Given the description of an element on the screen output the (x, y) to click on. 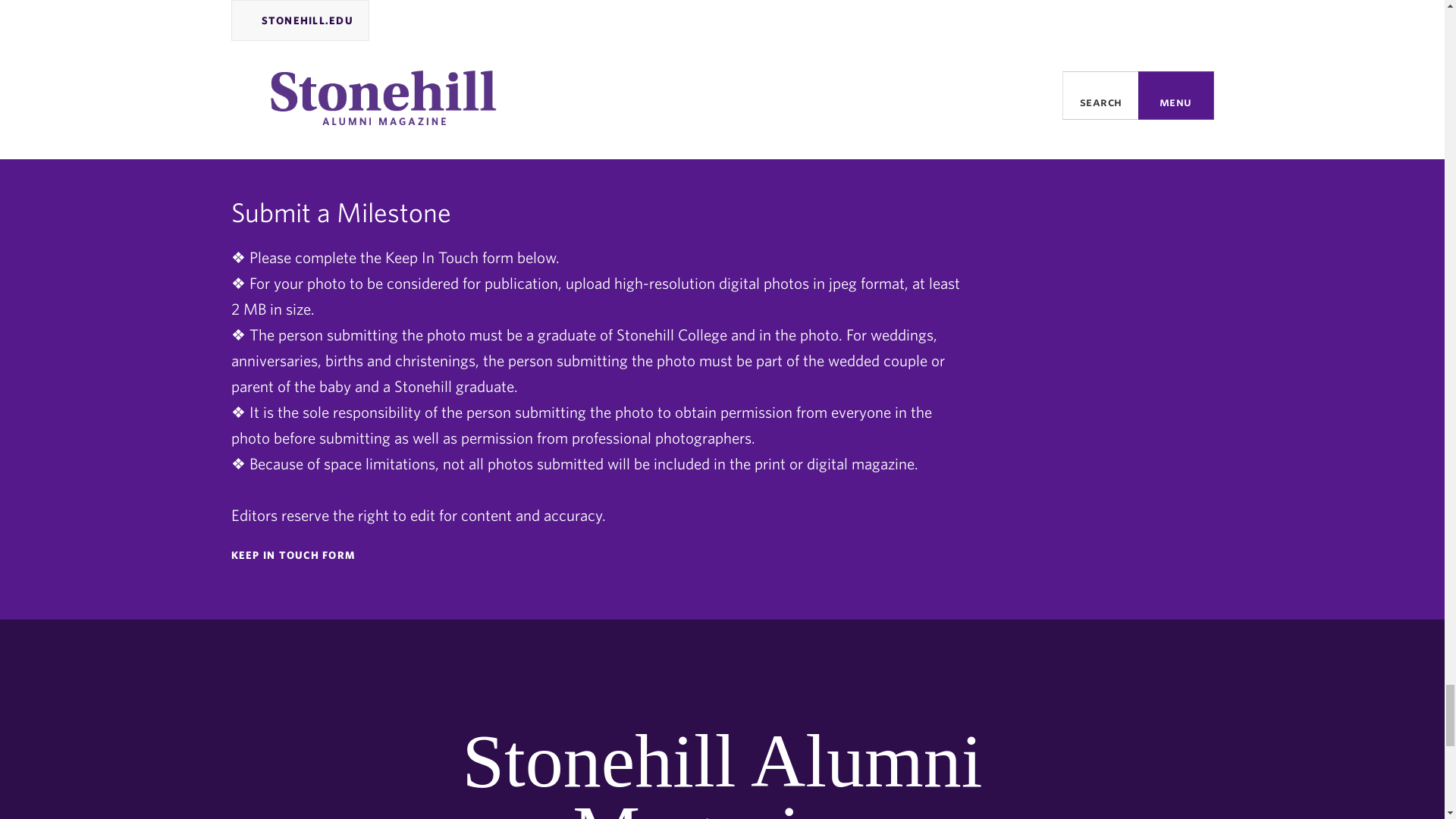
KEEP IN TOUCH FORM (599, 555)
